Given the description of an element on the screen output the (x, y) to click on. 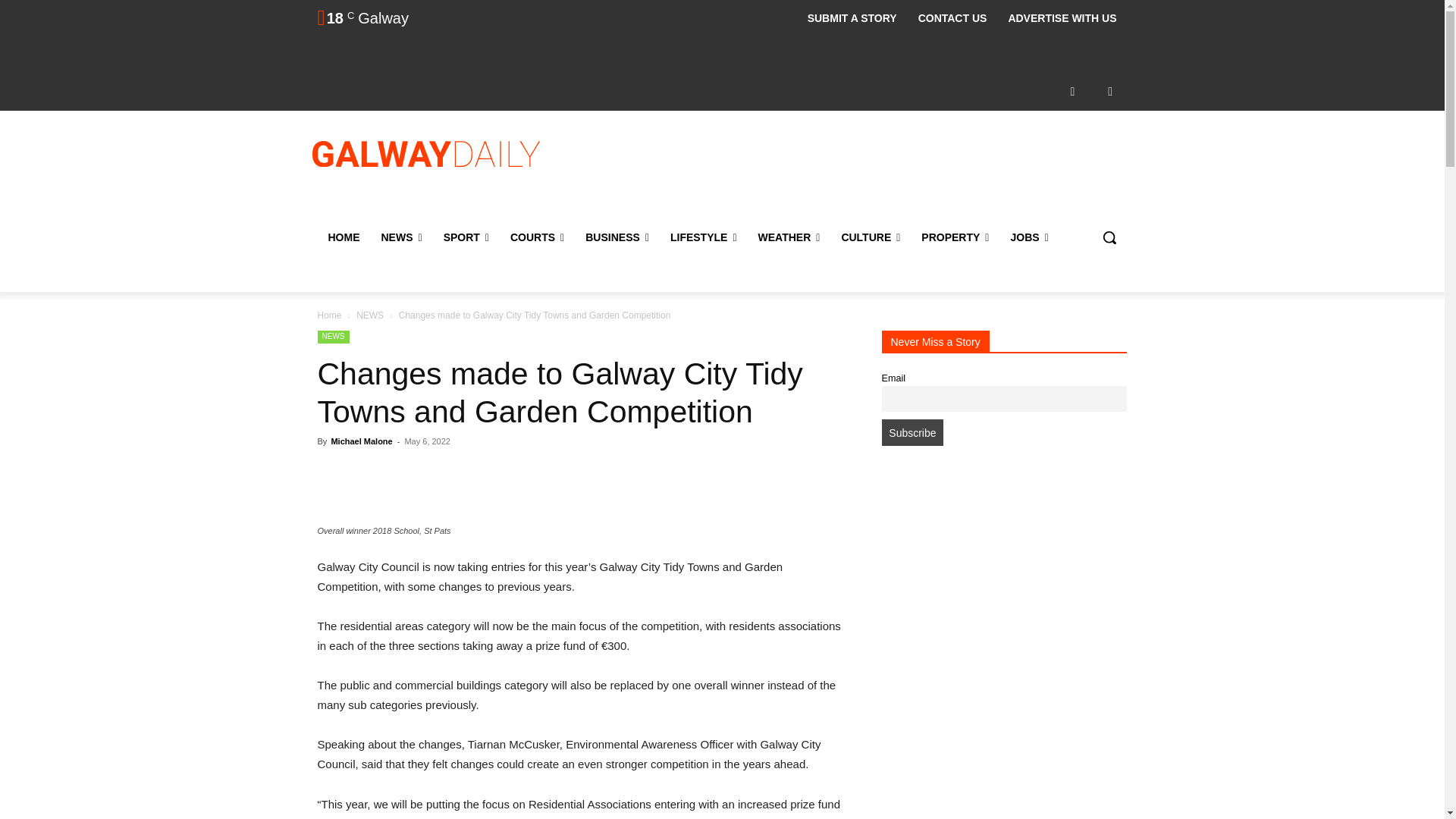
Facebook (1072, 91)
Subscribe (911, 432)
Twitter (1109, 91)
